Given the description of an element on the screen output the (x, y) to click on. 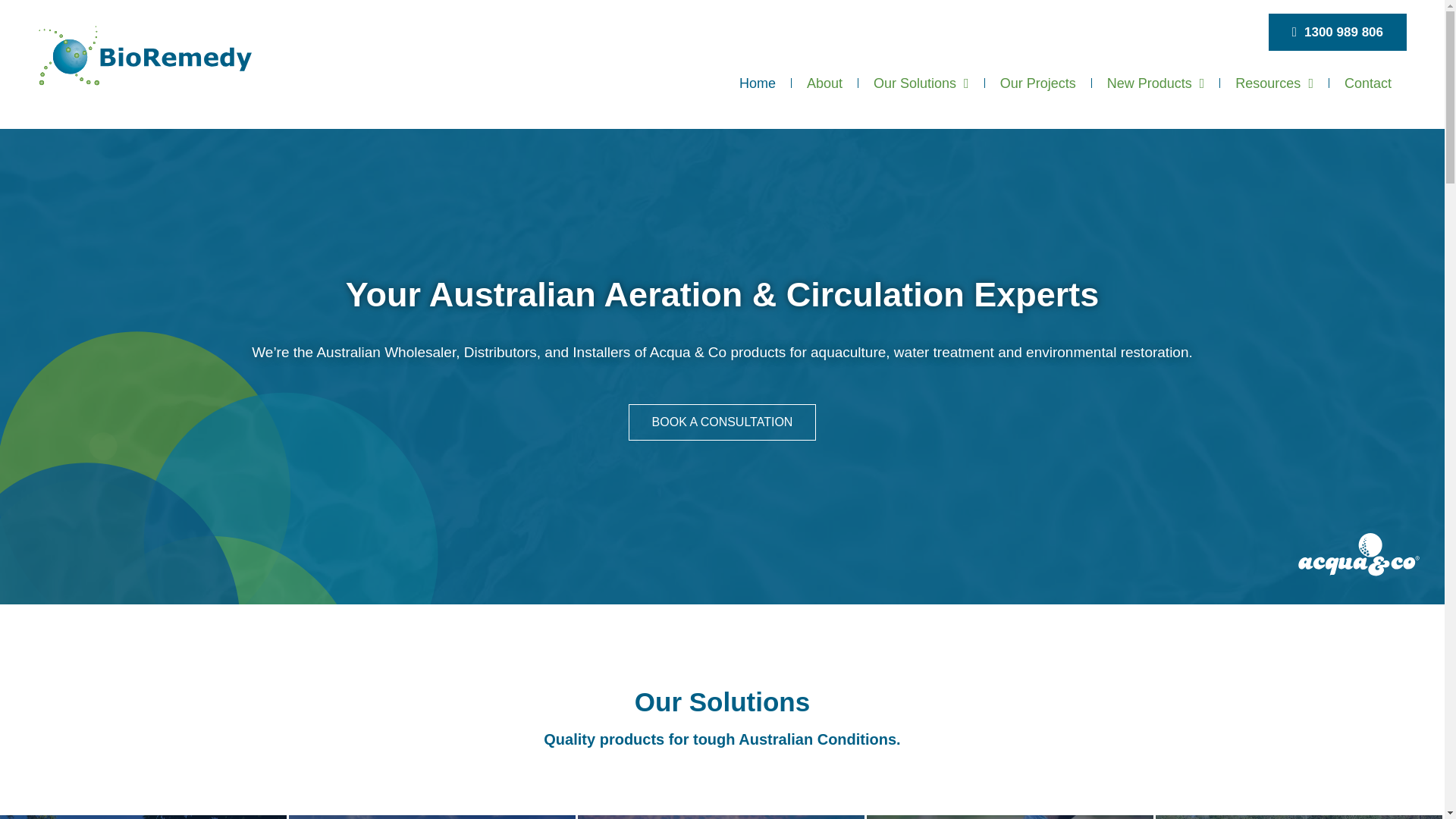
Contact (1367, 82)
1300 989 806 (1337, 31)
About (824, 82)
Our Solutions (921, 82)
New Products (1156, 82)
Home (756, 82)
Resources (1273, 82)
Our Projects (1037, 82)
